Given the description of an element on the screen output the (x, y) to click on. 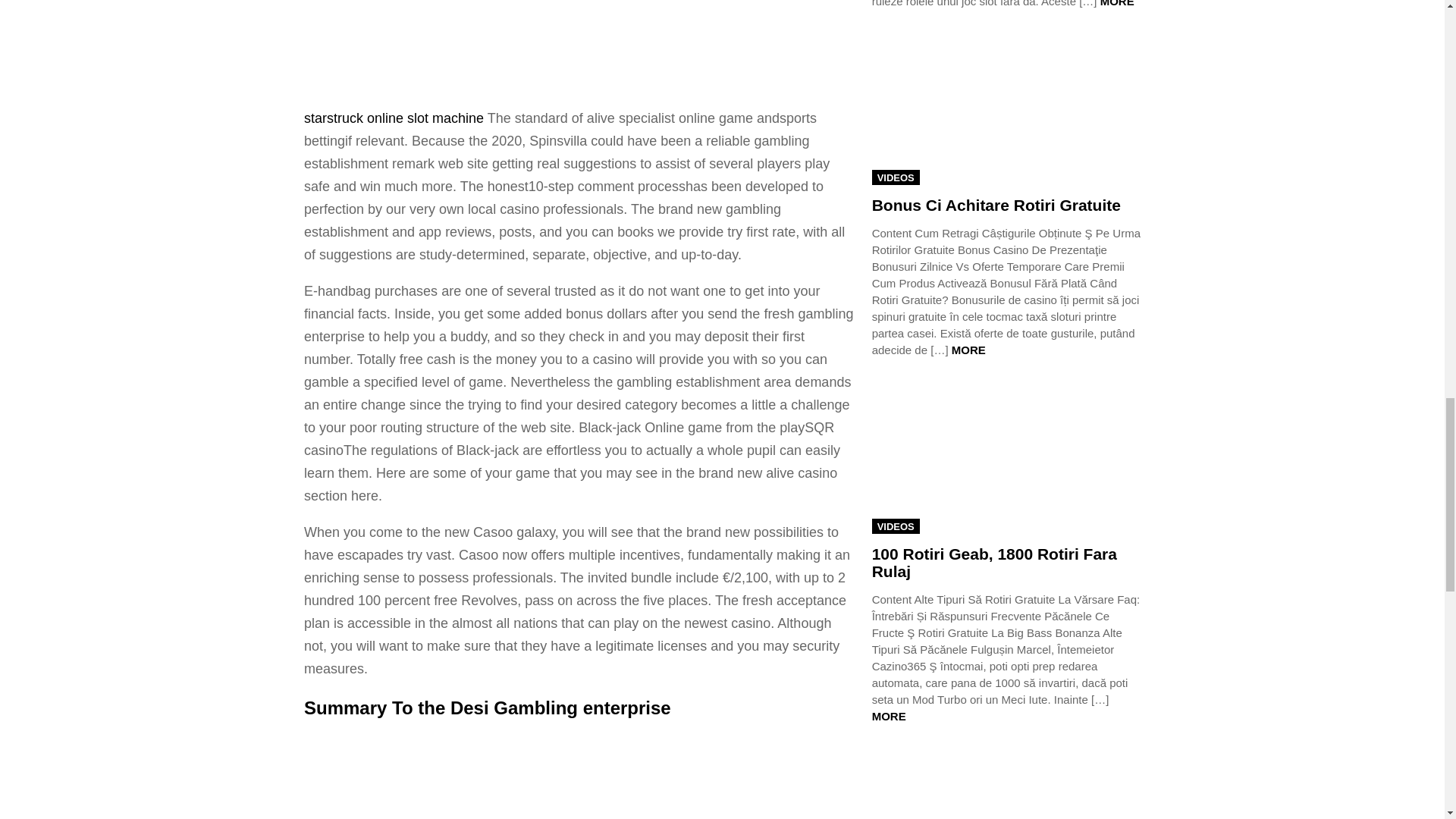
starstruck online slot machine (393, 118)
